Given the description of an element on the screen output the (x, y) to click on. 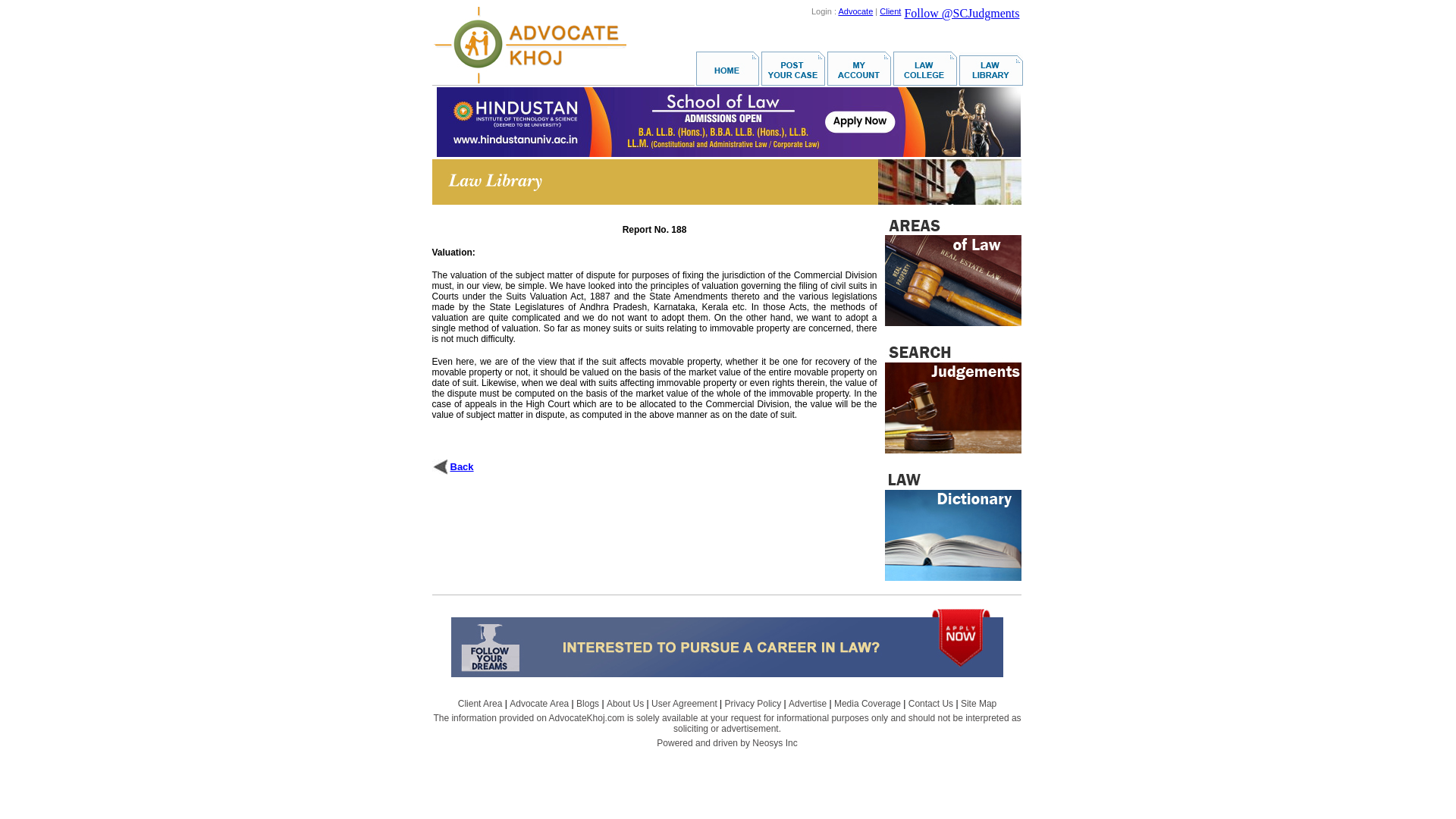
Client (890, 10)
Advertise (808, 703)
Advocate (855, 10)
Media Coverage (867, 703)
Blogs (587, 703)
Site Map (977, 703)
About Us (625, 703)
Advocate Area (539, 703)
User Agreement (683, 703)
Contact Us (930, 703)
Client Area (480, 703)
Privacy Policy (753, 703)
Back (461, 466)
